Given the description of an element on the screen output the (x, y) to click on. 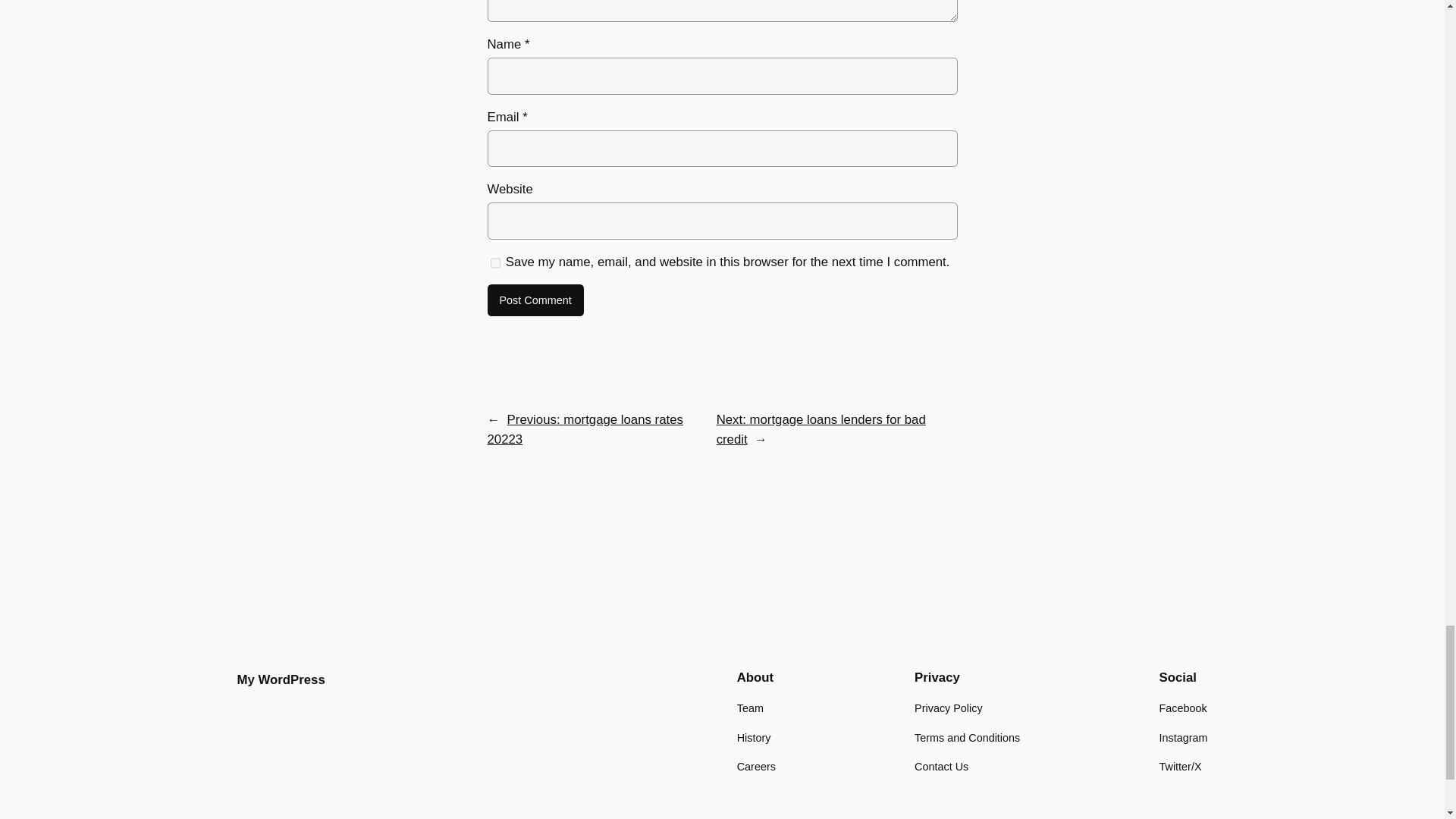
Contact Us (941, 766)
Instagram (1182, 737)
Post Comment (534, 300)
Privacy Policy (948, 708)
My WordPress (279, 679)
Team (749, 708)
Careers (756, 766)
Next: mortgage loans lenders for bad credit (821, 429)
Post Comment (534, 300)
History (753, 737)
